Given the description of an element on the screen output the (x, y) to click on. 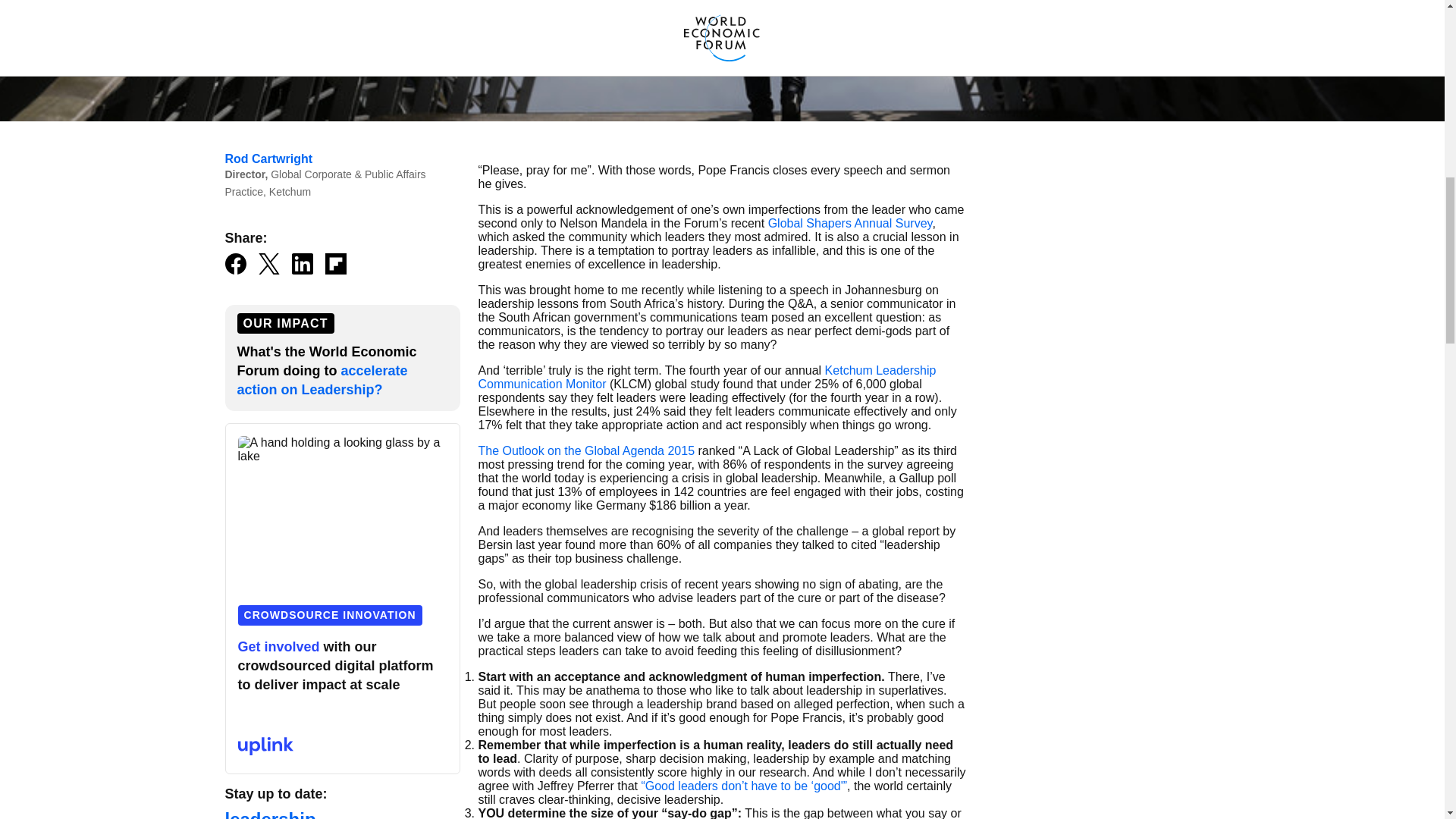
Global Shapers Annual Survey (850, 223)
The Outlook on the Global Agenda 2015 (585, 450)
Rod Cartwright (268, 158)
Ketchum Leadership Communication Monitor (706, 376)
